Given the description of an element on the screen output the (x, y) to click on. 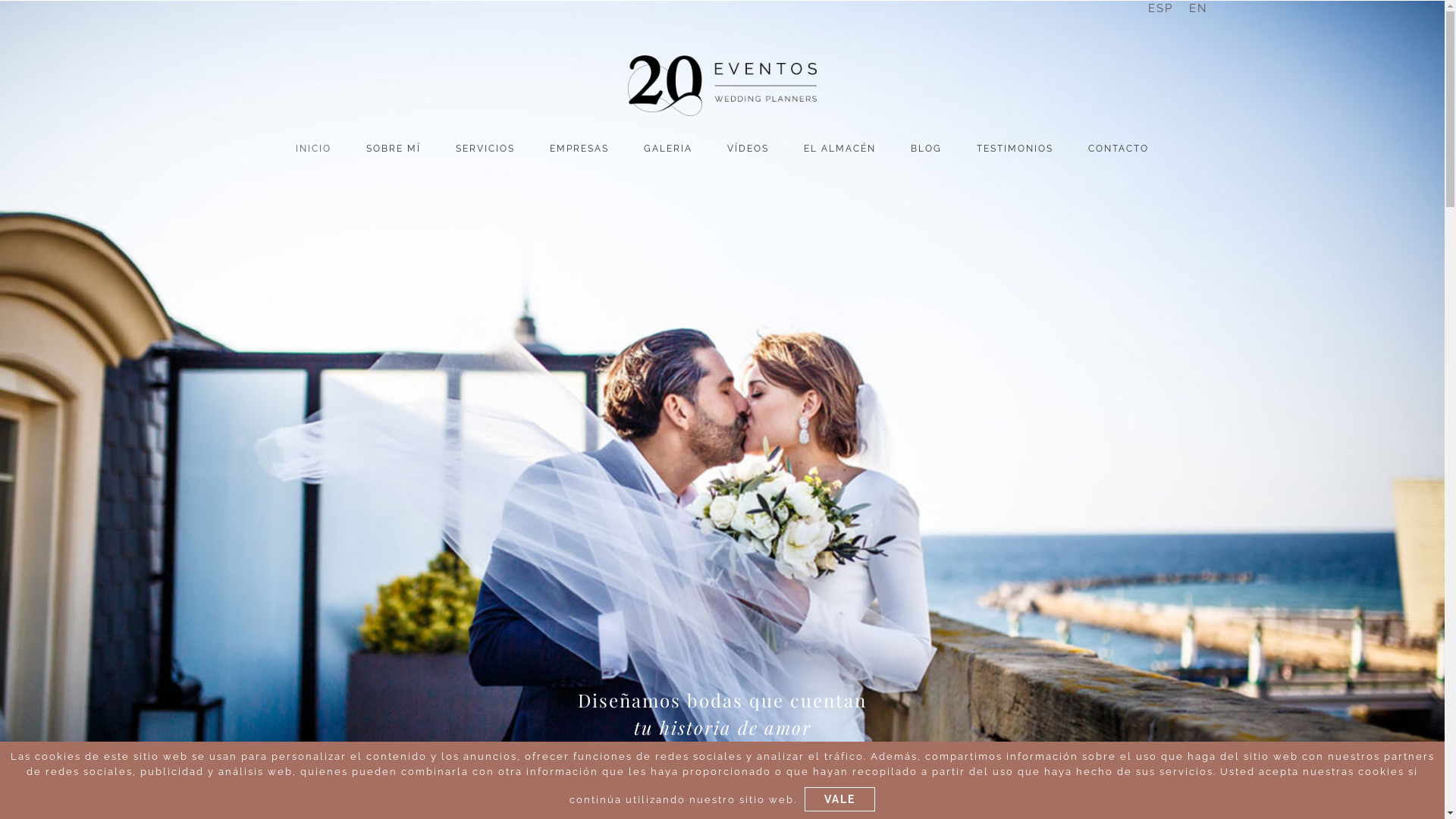
TESTIMONIOS Element type: text (1014, 148)
EN Element type: text (1198, 8)
CONTACTO Element type: text (1118, 148)
EMPRESAS Element type: text (579, 148)
BLOG Element type: text (926, 148)
INICIO Element type: text (313, 148)
20eventos Destination Wedding Planner in San Sebastian Element type: text (721, 84)
VALE Element type: text (839, 799)
CONTACTA CON NOSOTRAS Element type: text (721, 785)
GALERIA Element type: text (667, 148)
SERVICIOS Element type: text (485, 148)
Skip to primary navigation Element type: text (0, 0)
ESP Element type: text (1160, 8)
